Given the description of an element on the screen output the (x, y) to click on. 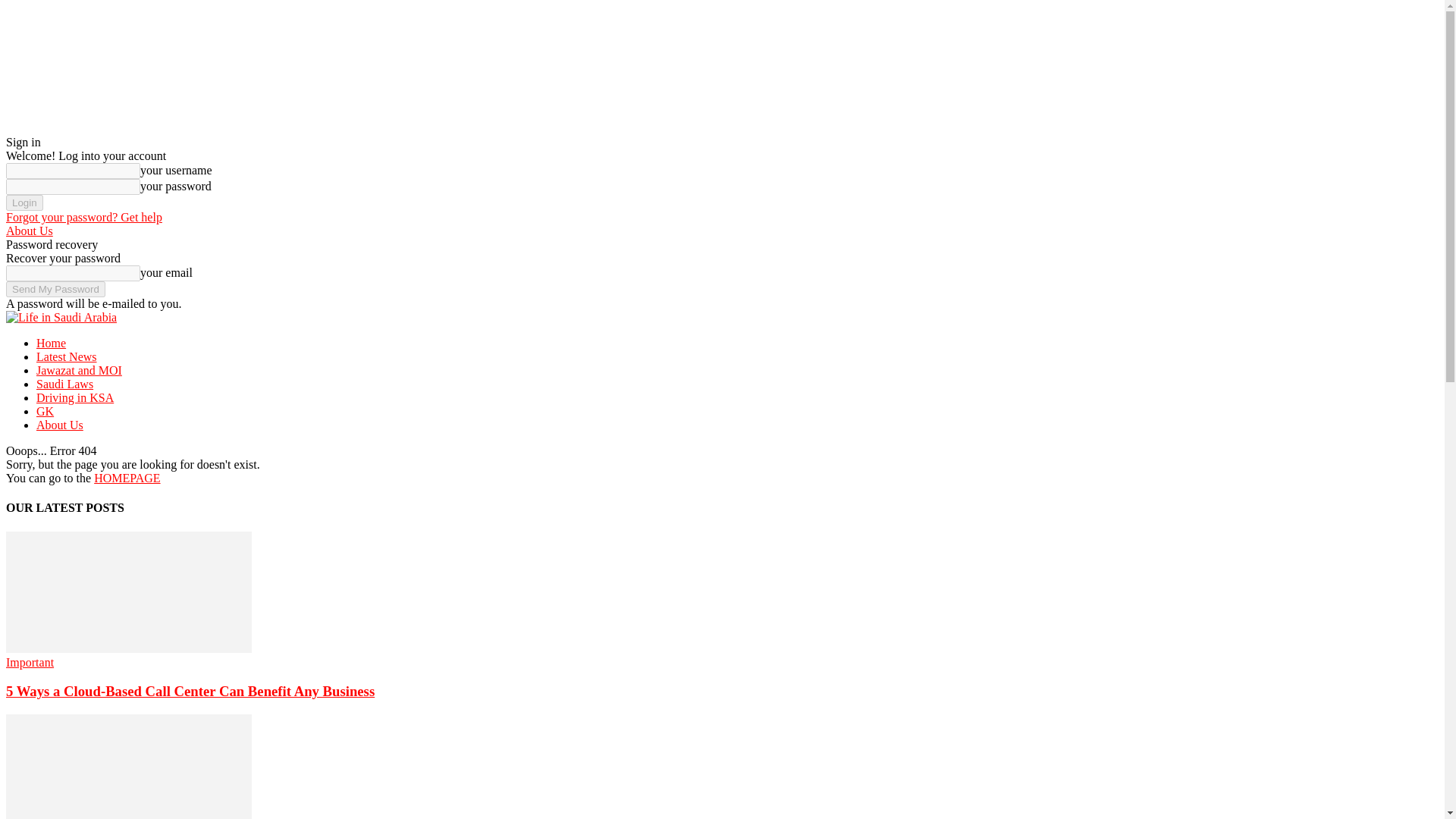
Driving in KSA (74, 397)
Saudi Laws (64, 383)
Latest News (66, 356)
5 Ways a Cloud-Based Call Center Can Benefit Any Business (128, 648)
Send My Password (54, 289)
Home (50, 342)
Important (29, 662)
About Us (28, 230)
Login (24, 202)
5 Ways a Cloud-Based Call Center Can Benefit Any Business (189, 691)
5 Ways a Cloud-Based Call Center Can Benefit Any Business (189, 691)
Life in Saudi Arabia (60, 317)
GK (44, 410)
Forgot your password? Get help (83, 216)
